Given the description of an element on the screen output the (x, y) to click on. 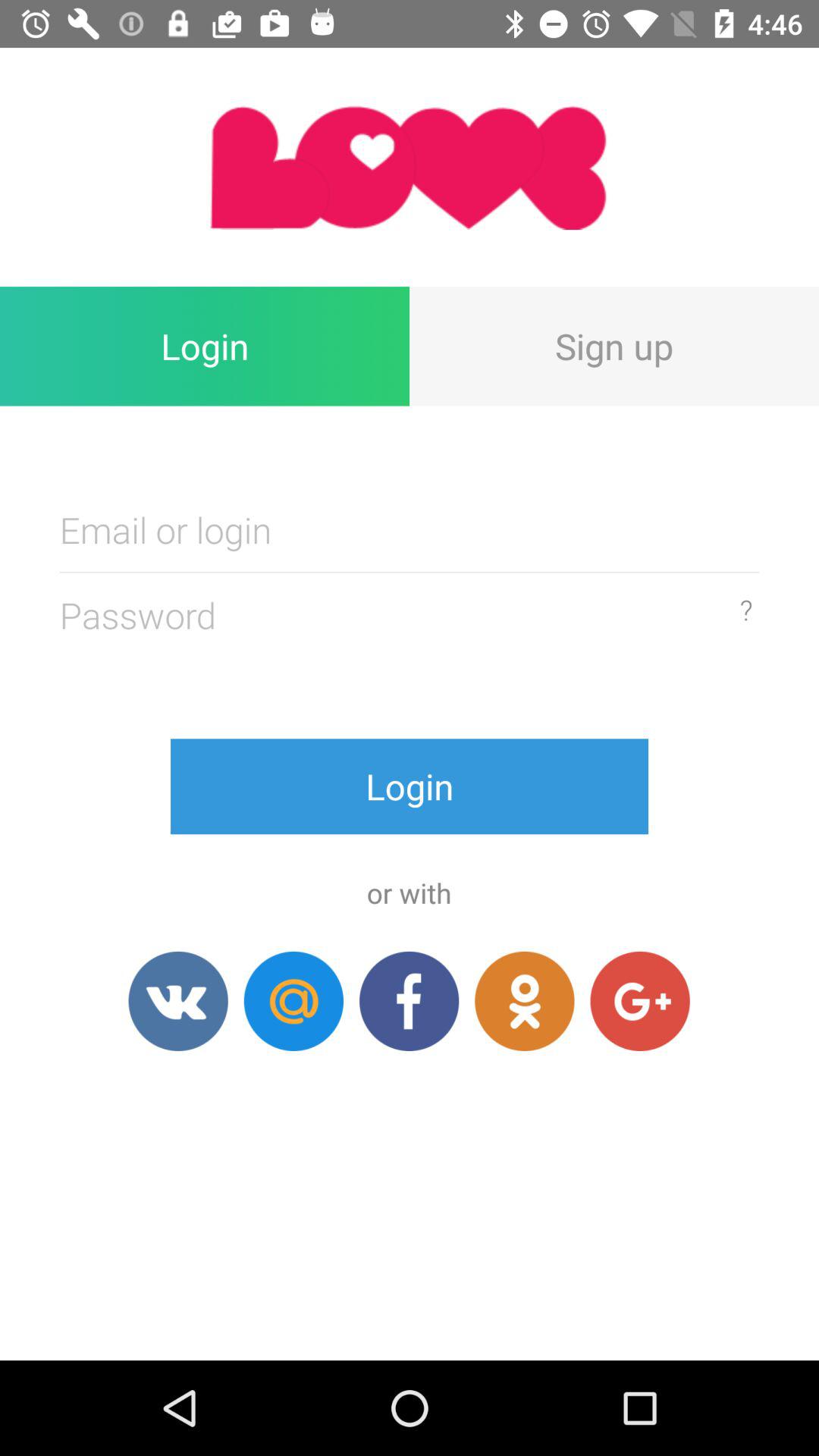
turn on icon on the right (746, 609)
